Given the description of an element on the screen output the (x, y) to click on. 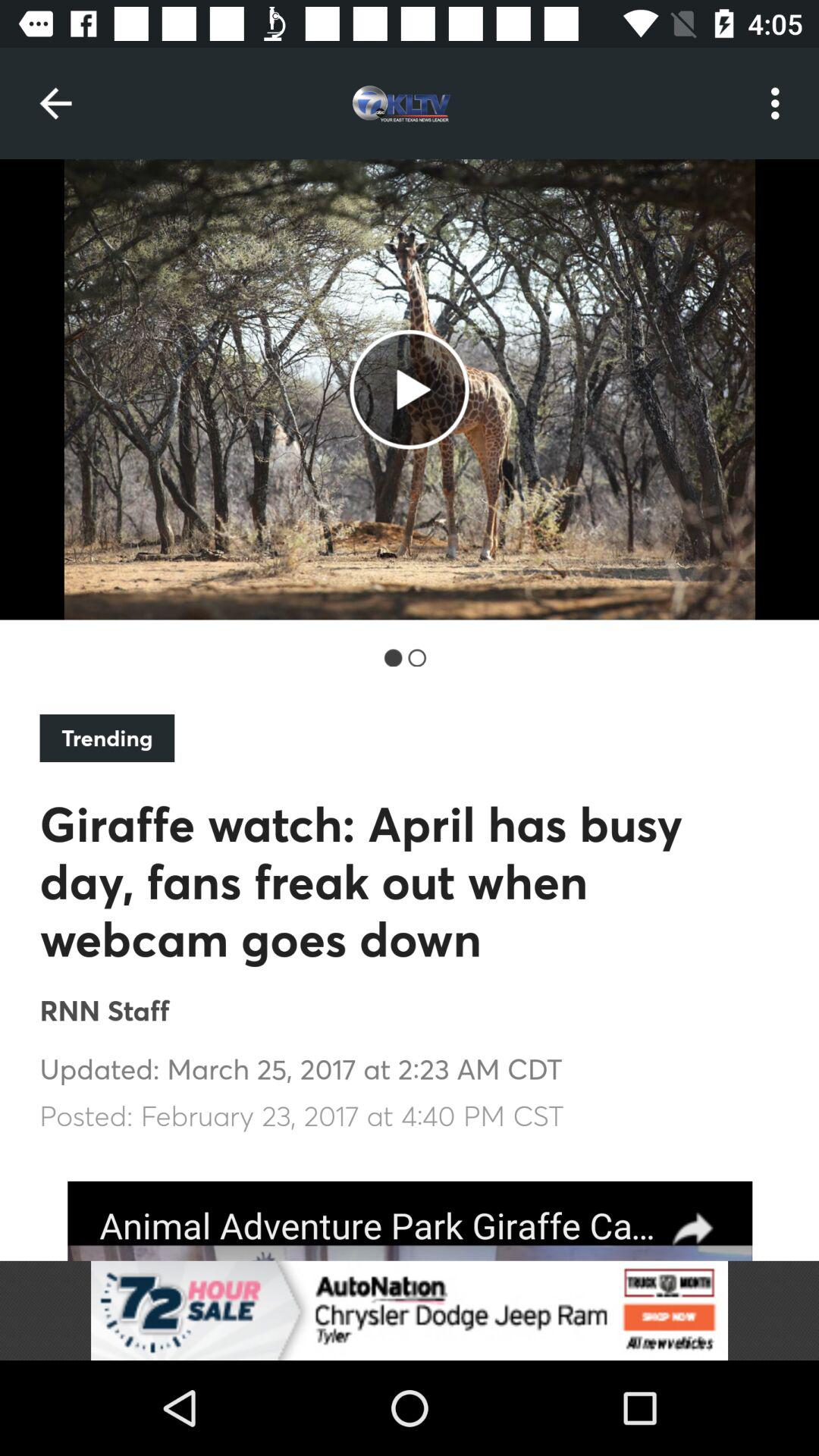
forward button (409, 1220)
